Given the description of an element on the screen output the (x, y) to click on. 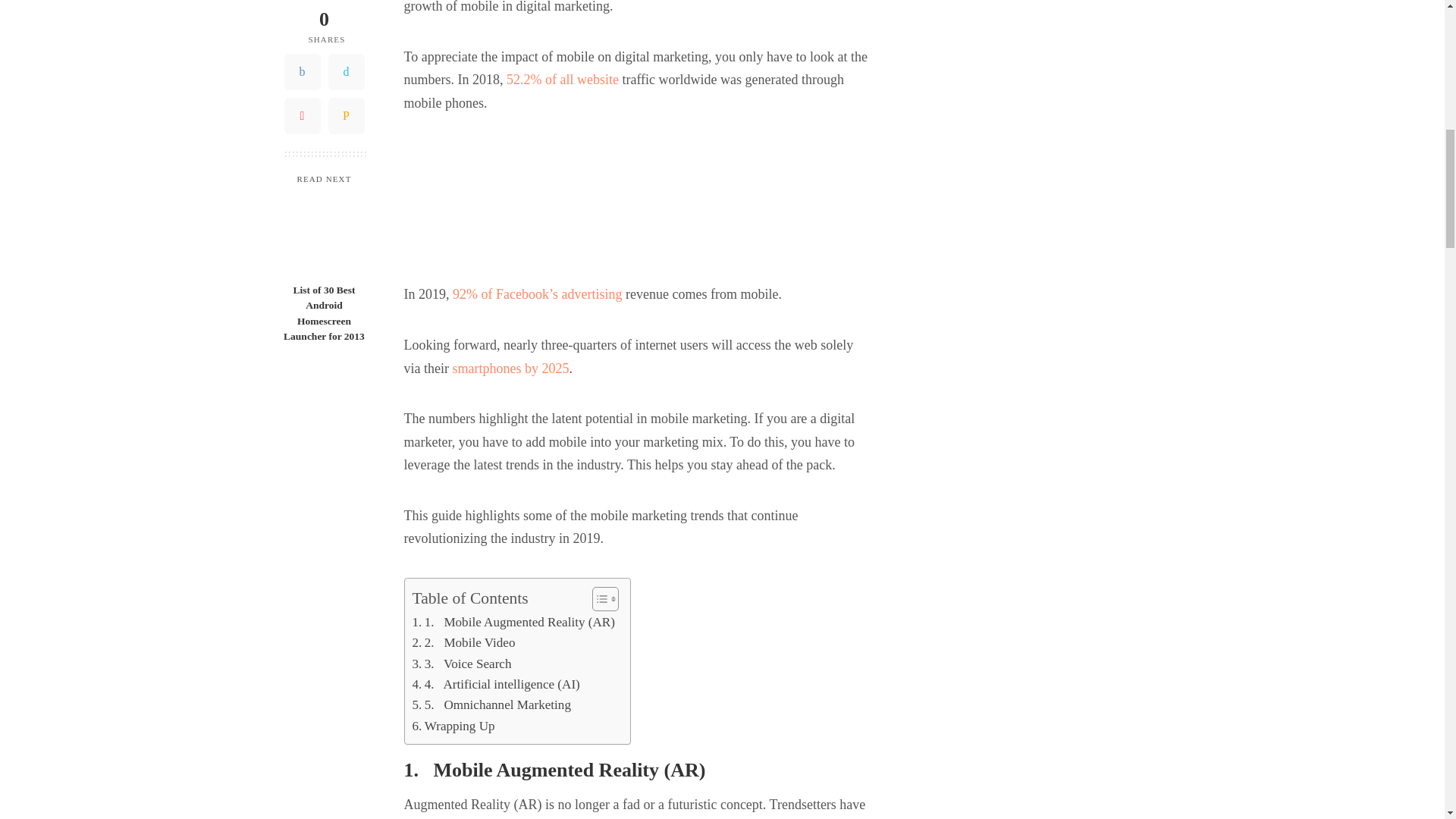
Twitter (345, 3)
Facebook (301, 3)
List of 30 Best Android Homescreen Launcher for 2013 (323, 152)
List of 30 Best Android Homescreen Launcher for 2013 (323, 230)
Pinterest (301, 33)
Email (345, 33)
